Given the description of an element on the screen output the (x, y) to click on. 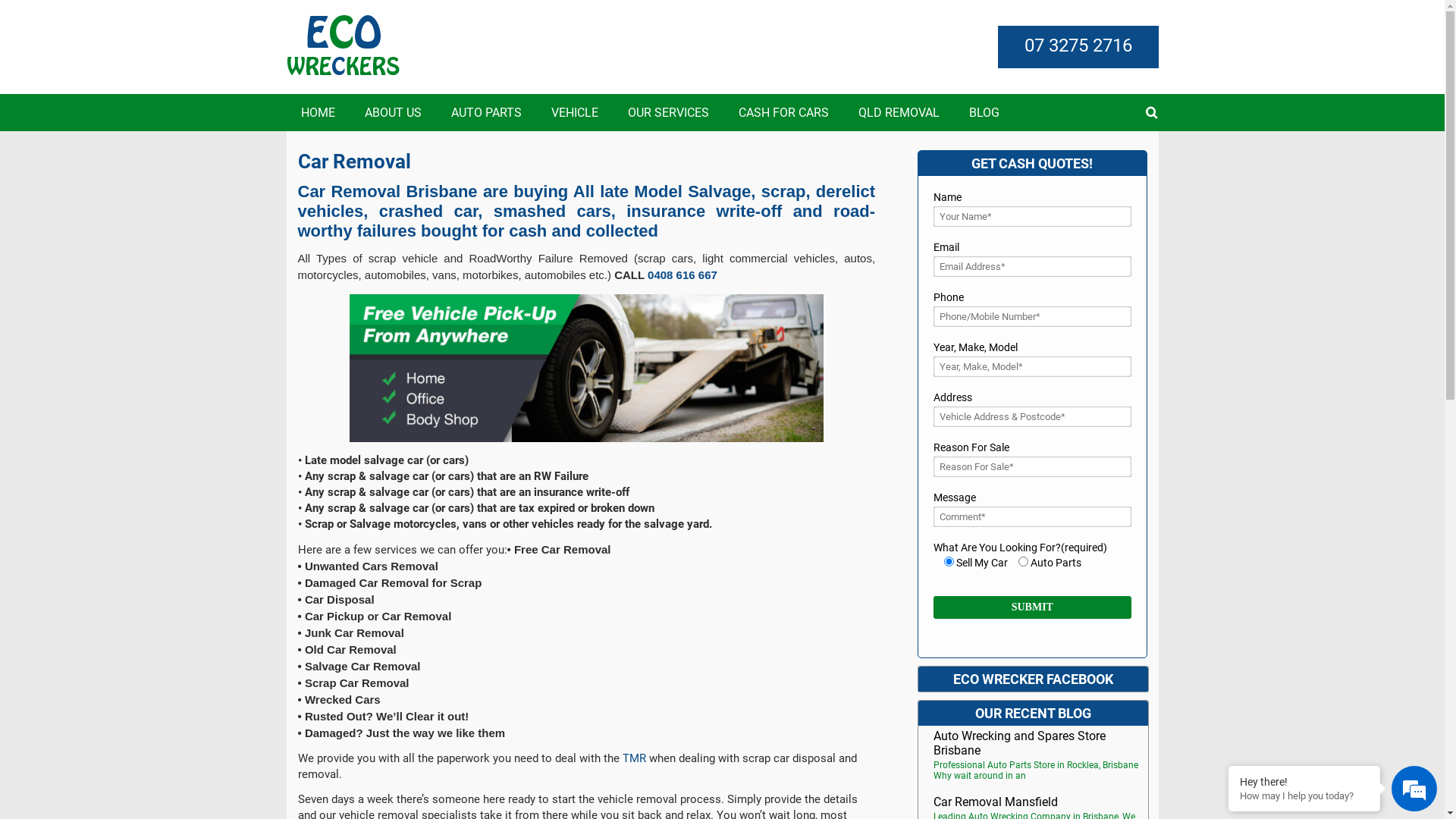
TMR Element type: text (633, 758)
SUBMIT Element type: text (1031, 607)
AUTO PARTS Element type: text (486, 112)
07 3275 2716 Element type: text (1077, 45)
0408 616 667 Element type: text (682, 274)
VEHICLE Element type: text (574, 112)
BLOG Element type: text (983, 112)
CASH FOR CARS Element type: text (782, 112)
Auto Wrecking and Spares Store Brisbane Element type: text (1040, 743)
OUR SERVICES Element type: text (667, 112)
Car Removal Mansfield Element type: text (995, 802)
HOME Element type: text (317, 112)
ABOUT US Element type: text (393, 112)
QLD REMOVAL Element type: text (898, 112)
